Given the description of an element on the screen output the (x, y) to click on. 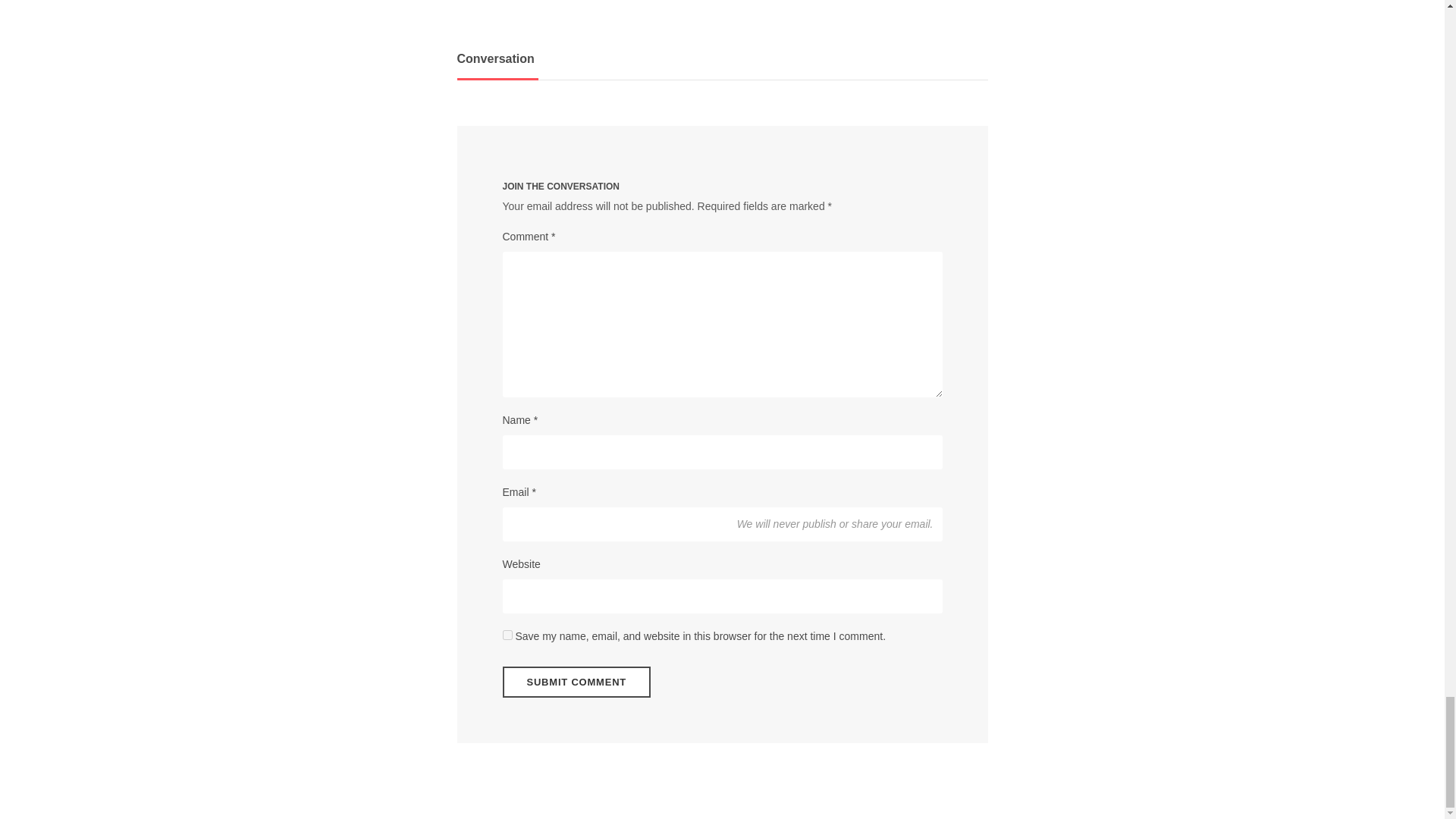
Submit Comment (576, 681)
yes (507, 634)
